Given the description of an element on the screen output the (x, y) to click on. 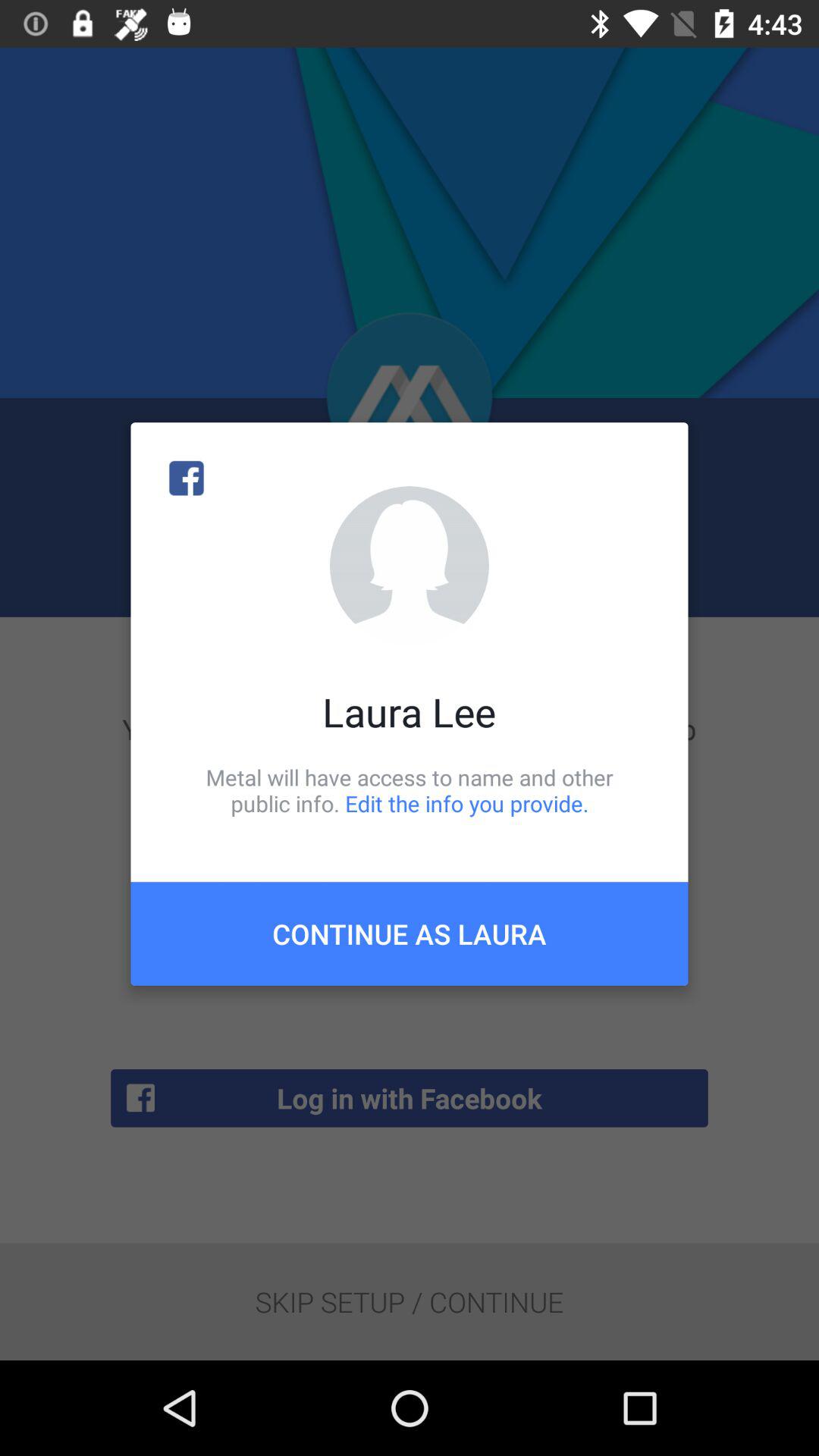
click the item above the continue as laura icon (409, 790)
